Given the description of an element on the screen output the (x, y) to click on. 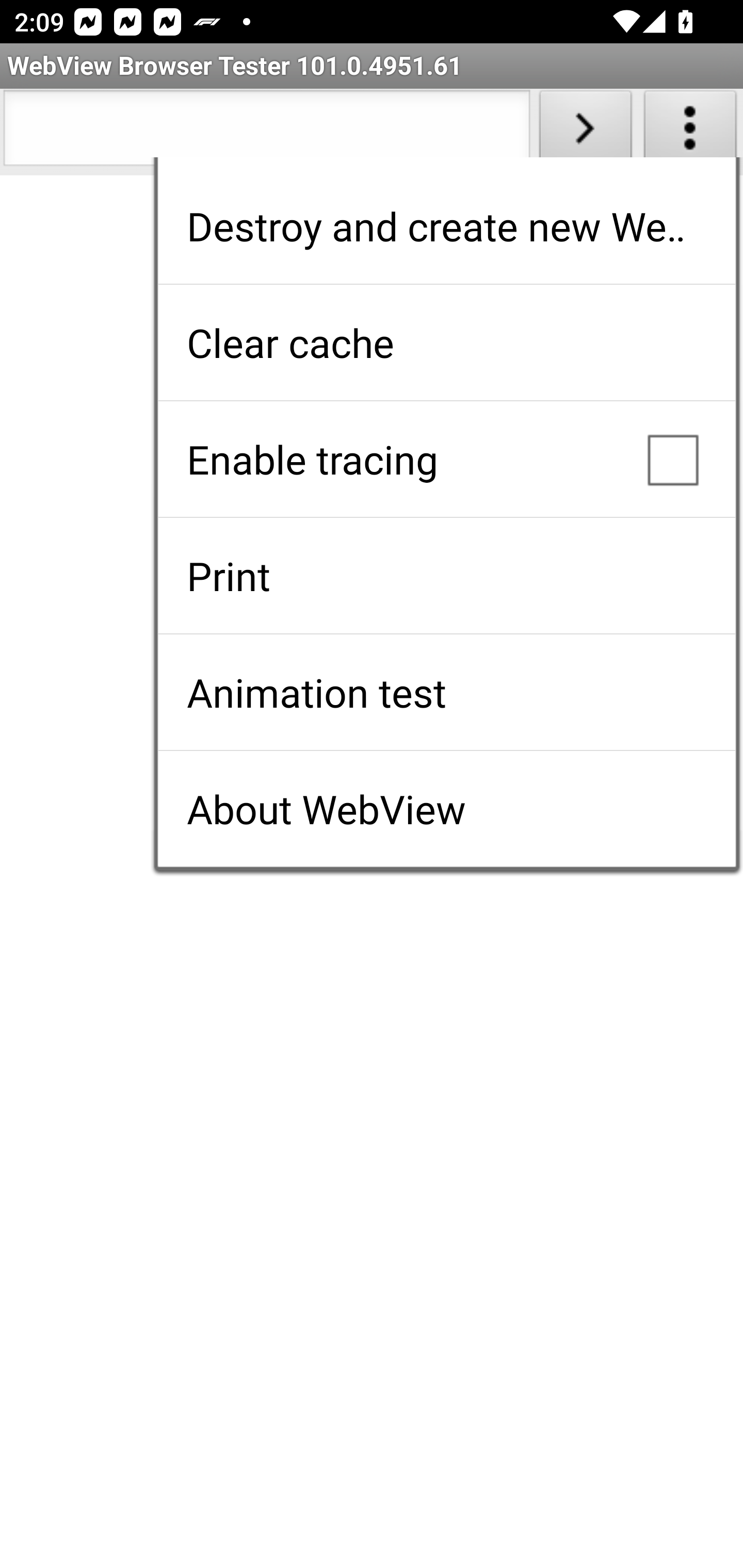
Destroy and create new WebView (446, 225)
Clear cache (446, 342)
Enable tracing (446, 459)
Print (446, 575)
Animation test (446, 692)
About WebView (446, 809)
